Given the description of an element on the screen output the (x, y) to click on. 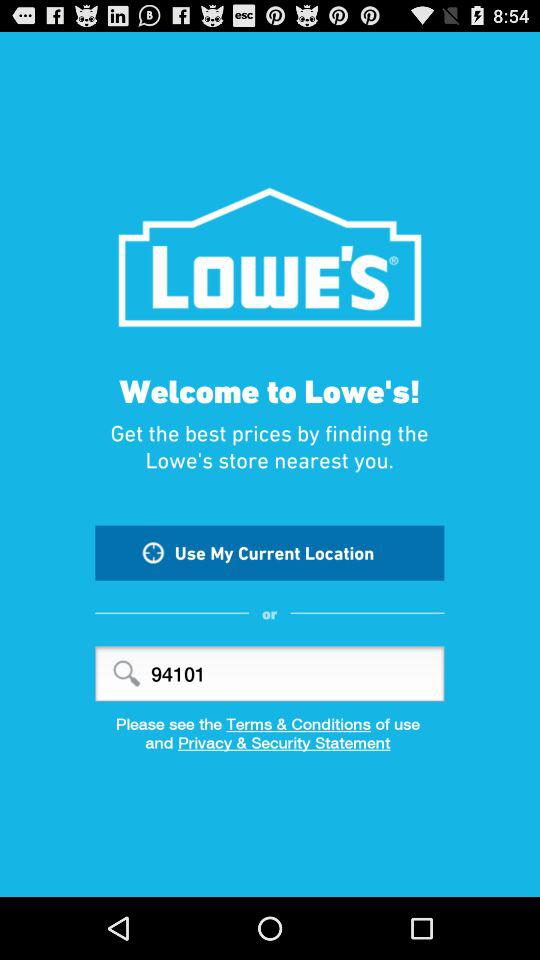
scroll to the use my current icon (269, 552)
